Given the description of an element on the screen output the (x, y) to click on. 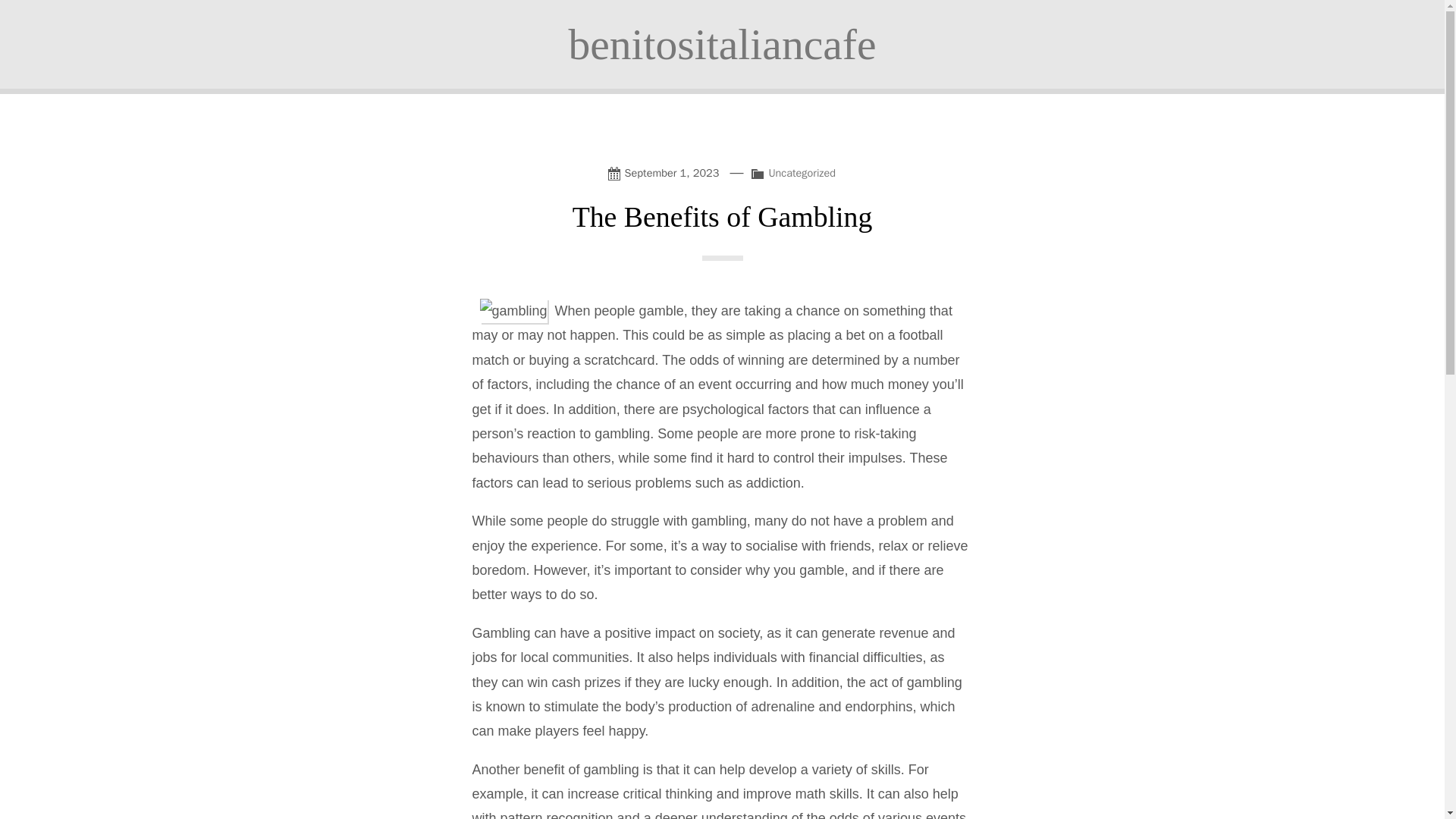
benitositaliancafe (721, 43)
Uncategorized (801, 172)
